Given the description of an element on the screen output the (x, y) to click on. 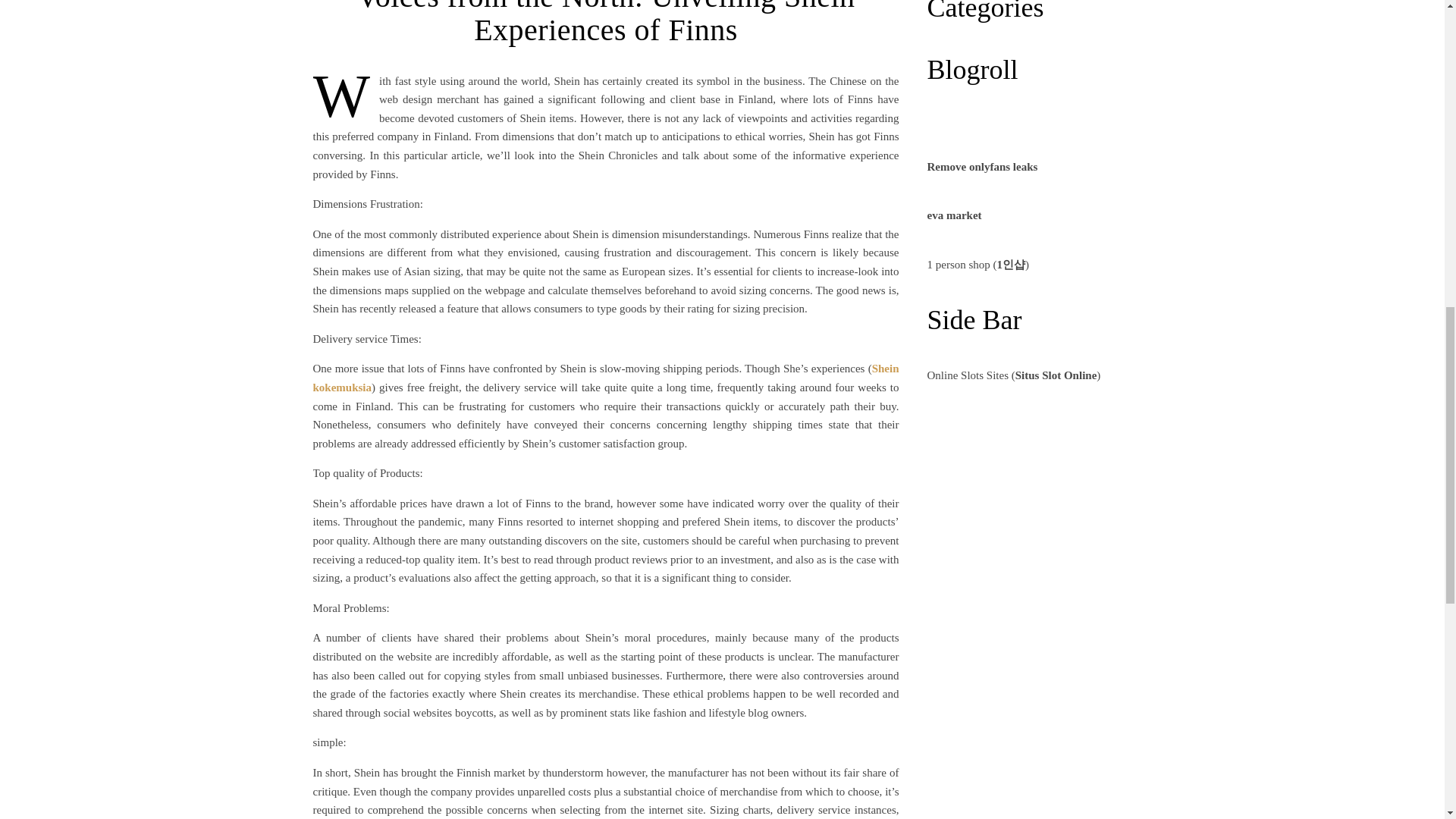
Situs Slot Online (1055, 375)
Shein kokemuksia (605, 377)
eva market (953, 215)
Remove onlyfans leaks (981, 166)
